Given the description of an element on the screen output the (x, y) to click on. 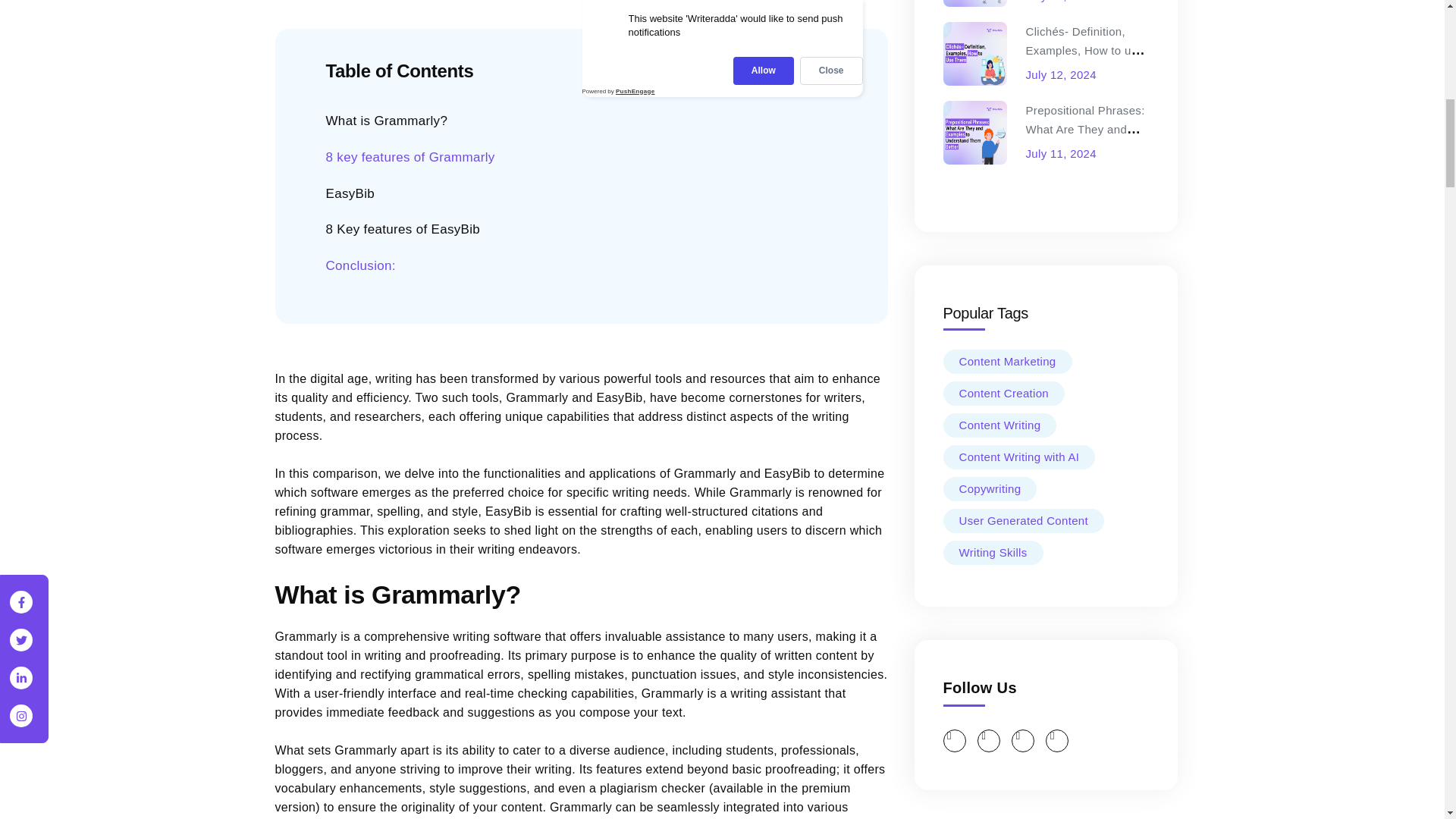
8 key features of Grammarly (410, 157)
What is Grammarly? (387, 121)
